Given the description of an element on the screen output the (x, y) to click on. 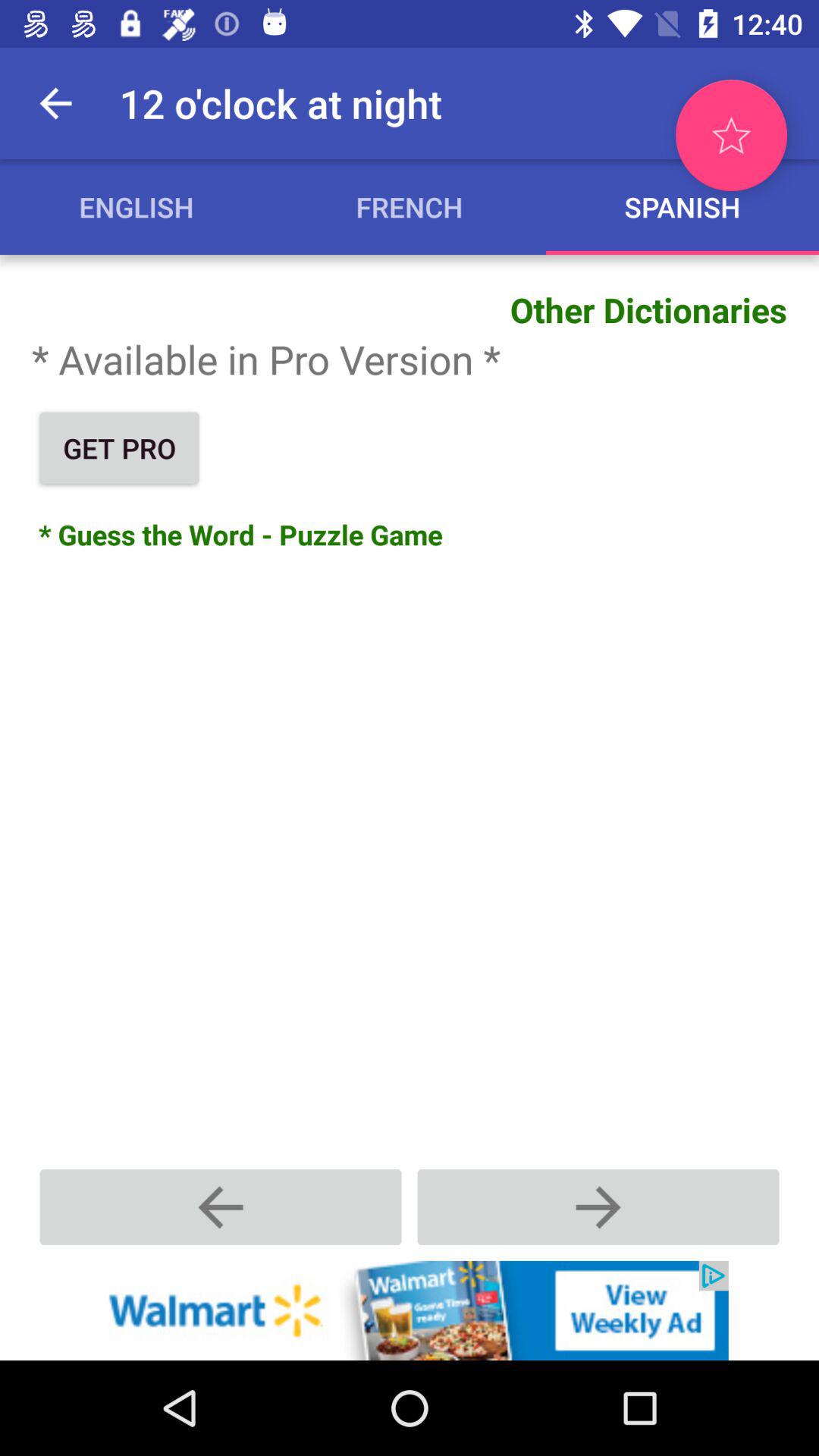
go to the forword (598, 1206)
